Given the description of an element on the screen output the (x, y) to click on. 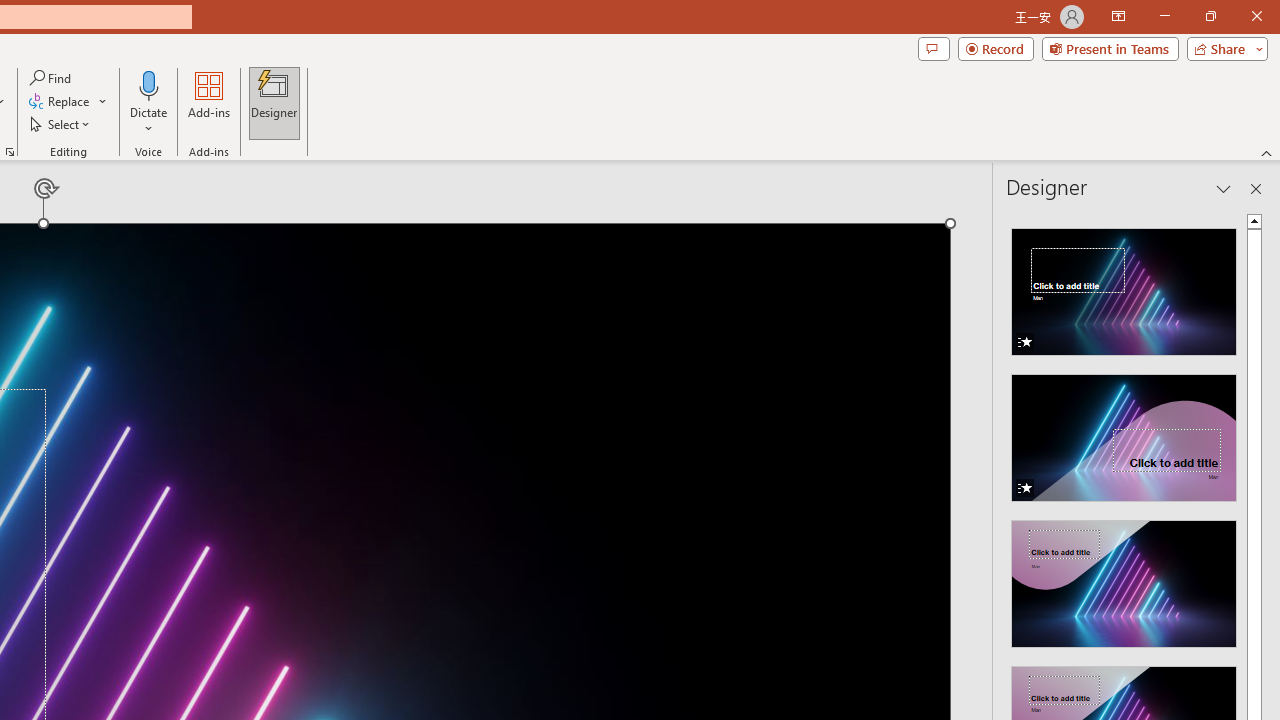
Design Idea with Animation (1124, 431)
